Given the description of an element on the screen output the (x, y) to click on. 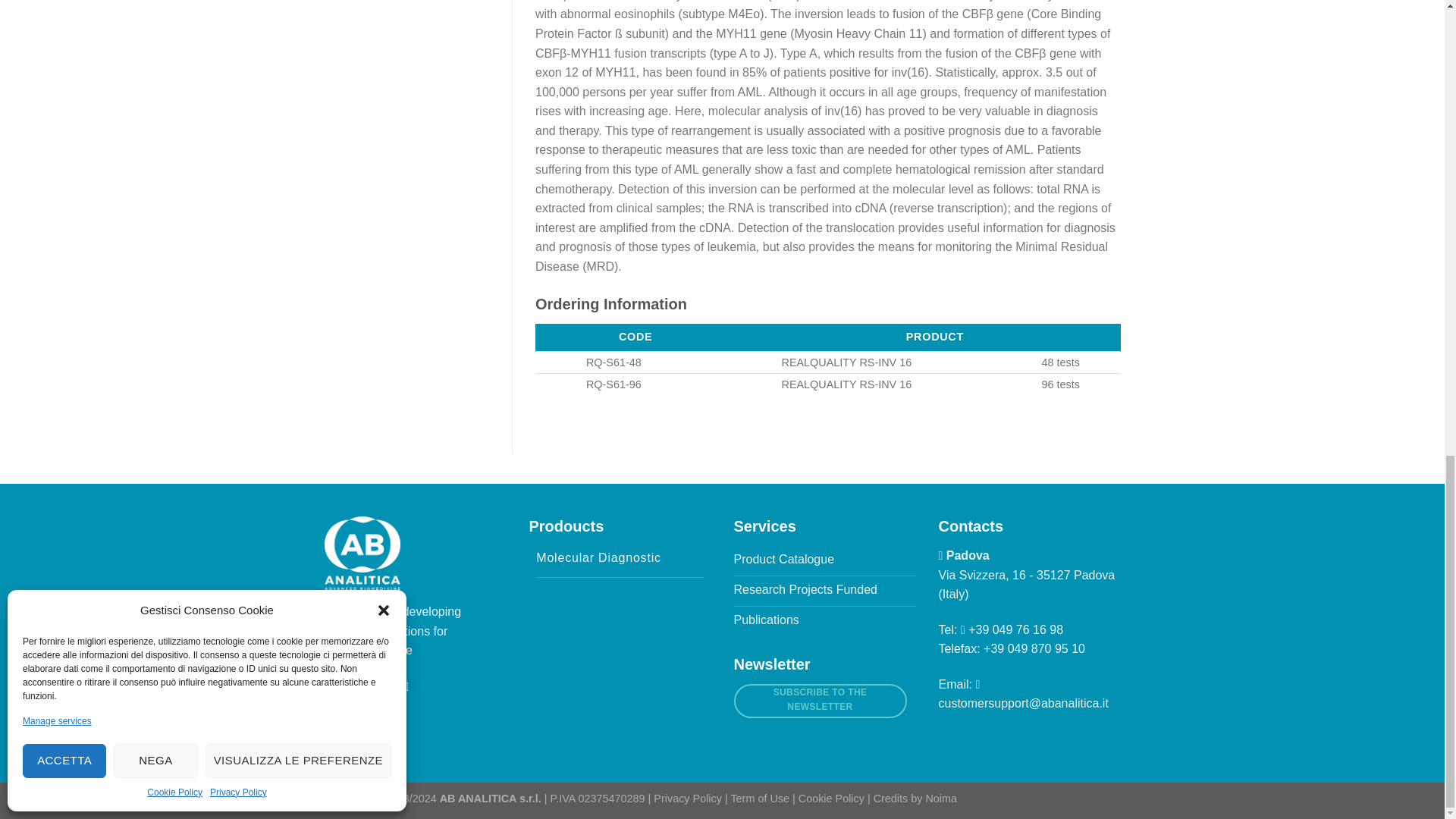
Follow on LinkedIn (410, 685)
Follow on Facebook (391, 685)
CODE PRODUCT (828, 336)
CODE PRODUCT (916, 336)
